Given the description of an element on the screen output the (x, y) to click on. 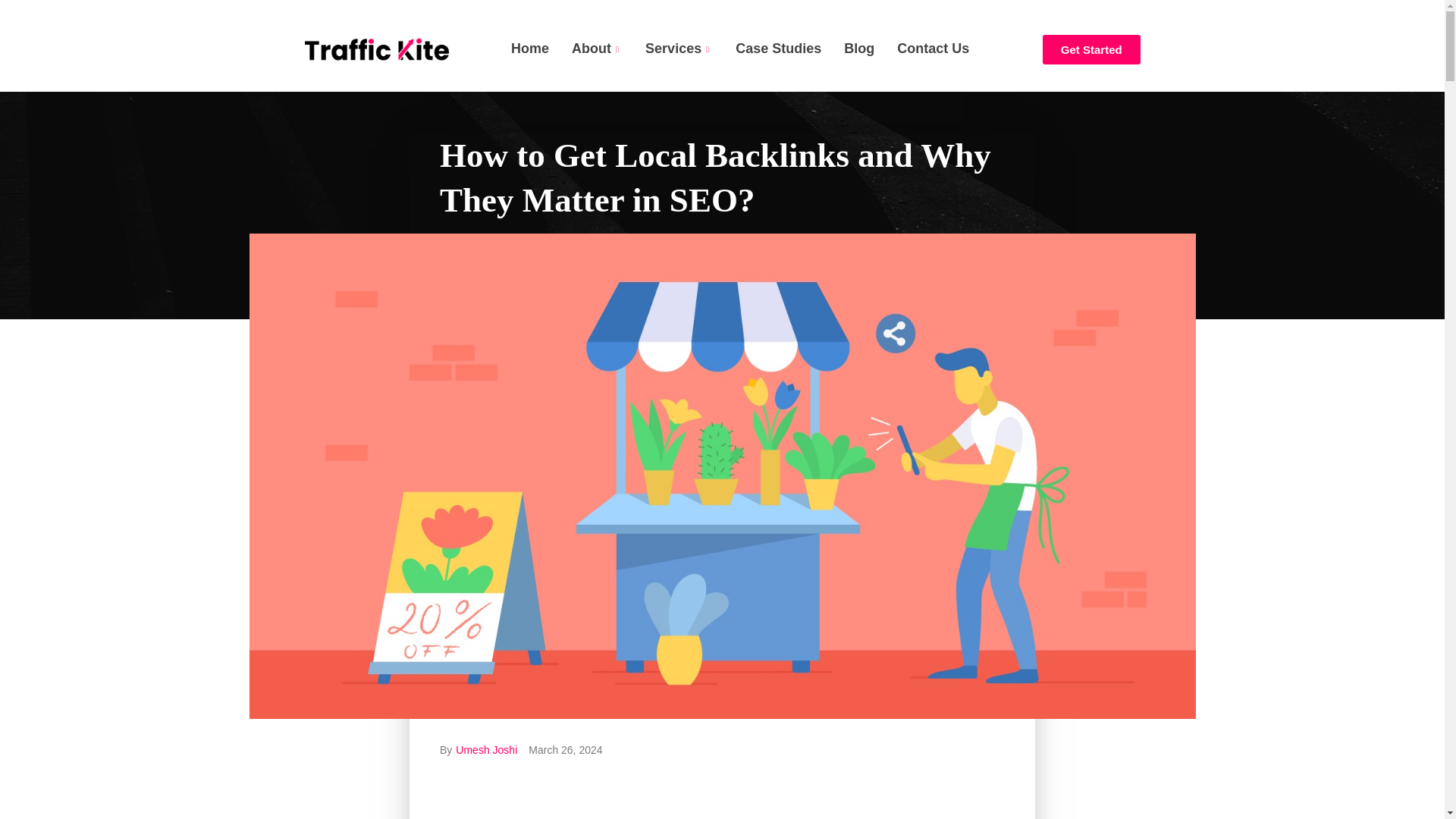
About (596, 49)
Get Started (1091, 49)
Posts by Umesh Joshi (485, 749)
Services (678, 49)
Umesh Joshi (485, 749)
Home (529, 49)
Blog (858, 49)
Case Studies (777, 49)
Contact Us (932, 49)
